Given the description of an element on the screen output the (x, y) to click on. 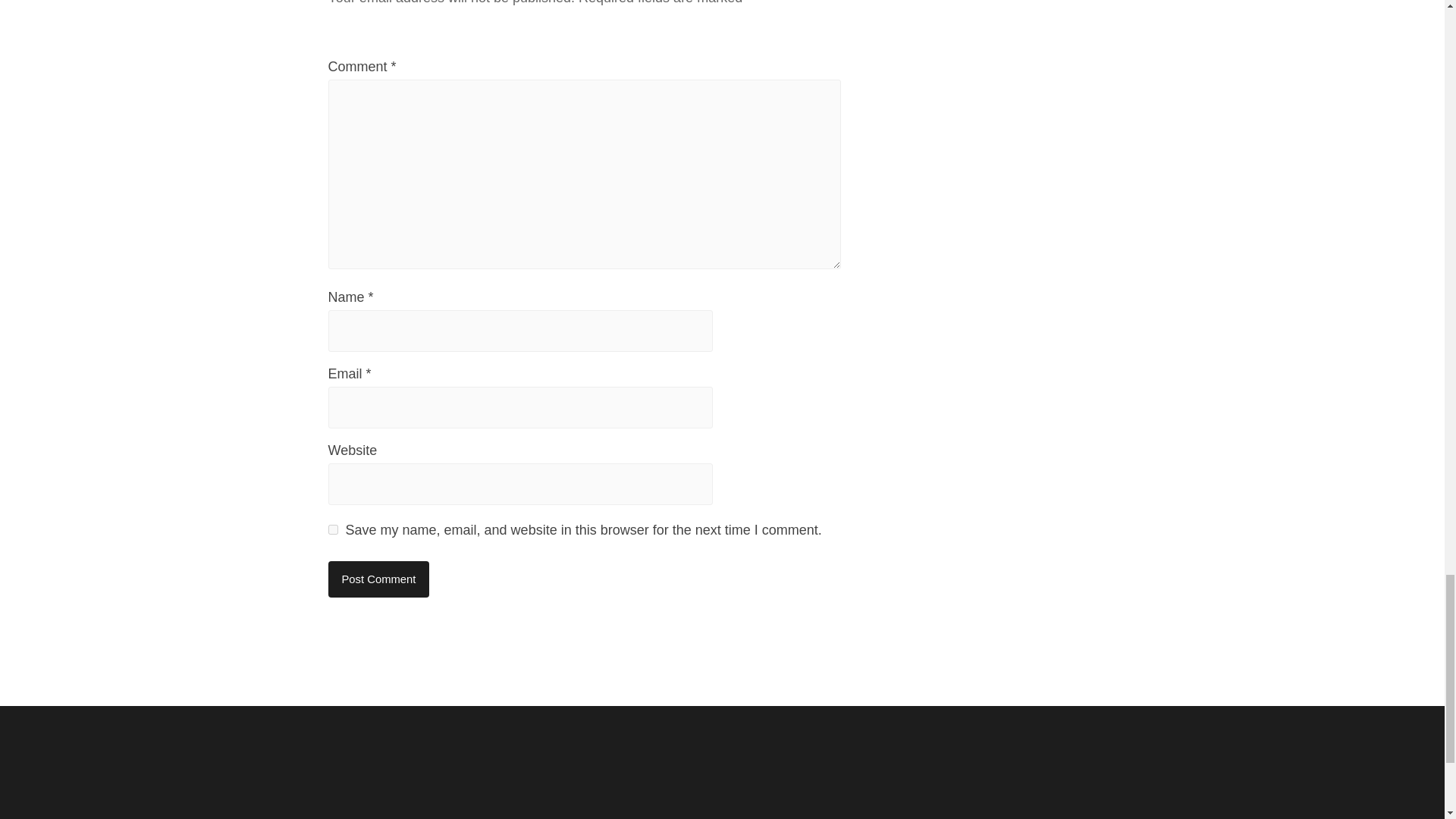
Post Comment (378, 579)
Post Comment (378, 579)
yes (332, 529)
